Given the description of an element on the screen output the (x, y) to click on. 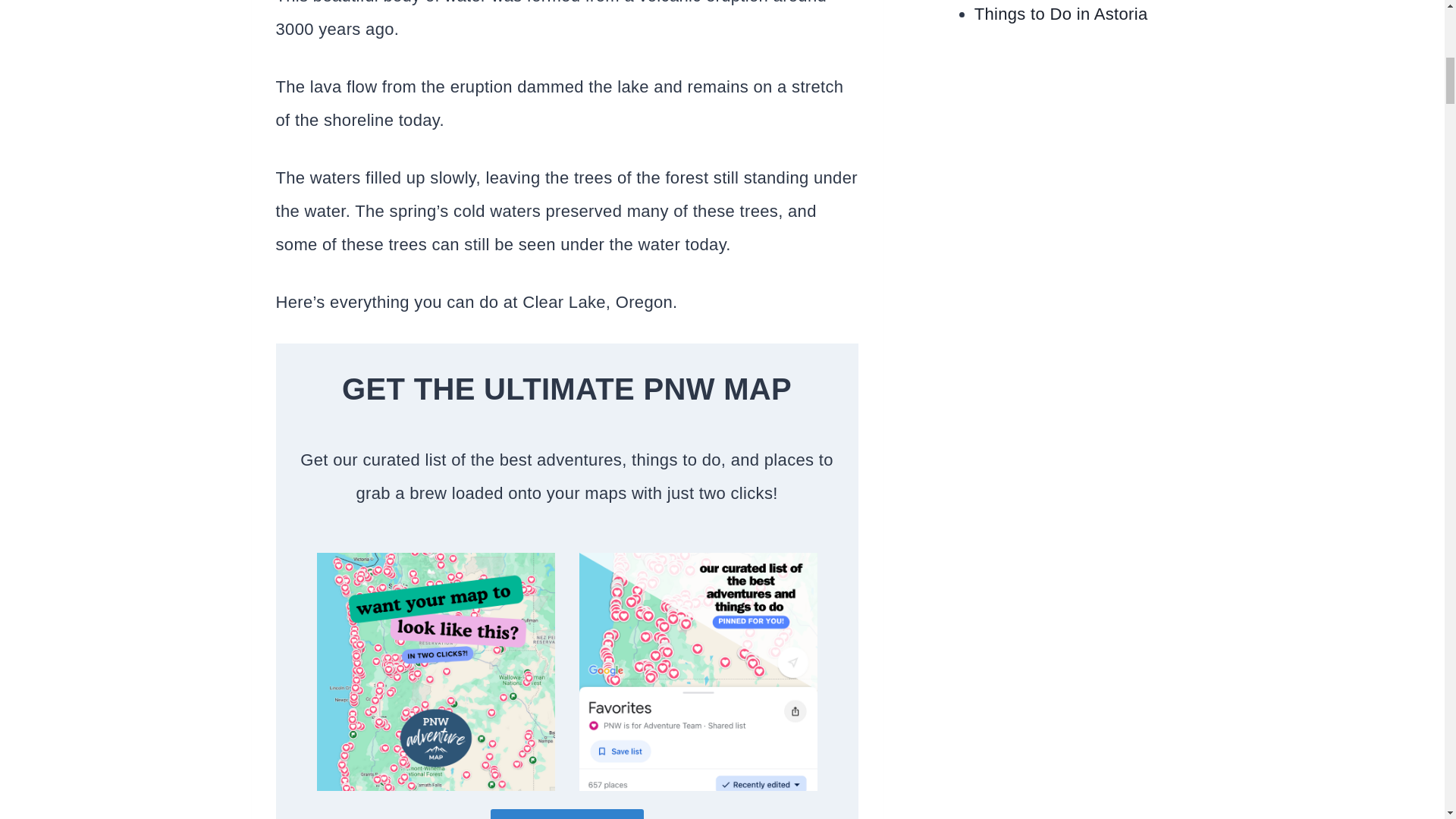
GET THE MAP! (566, 814)
